Given the description of an element on the screen output the (x, y) to click on. 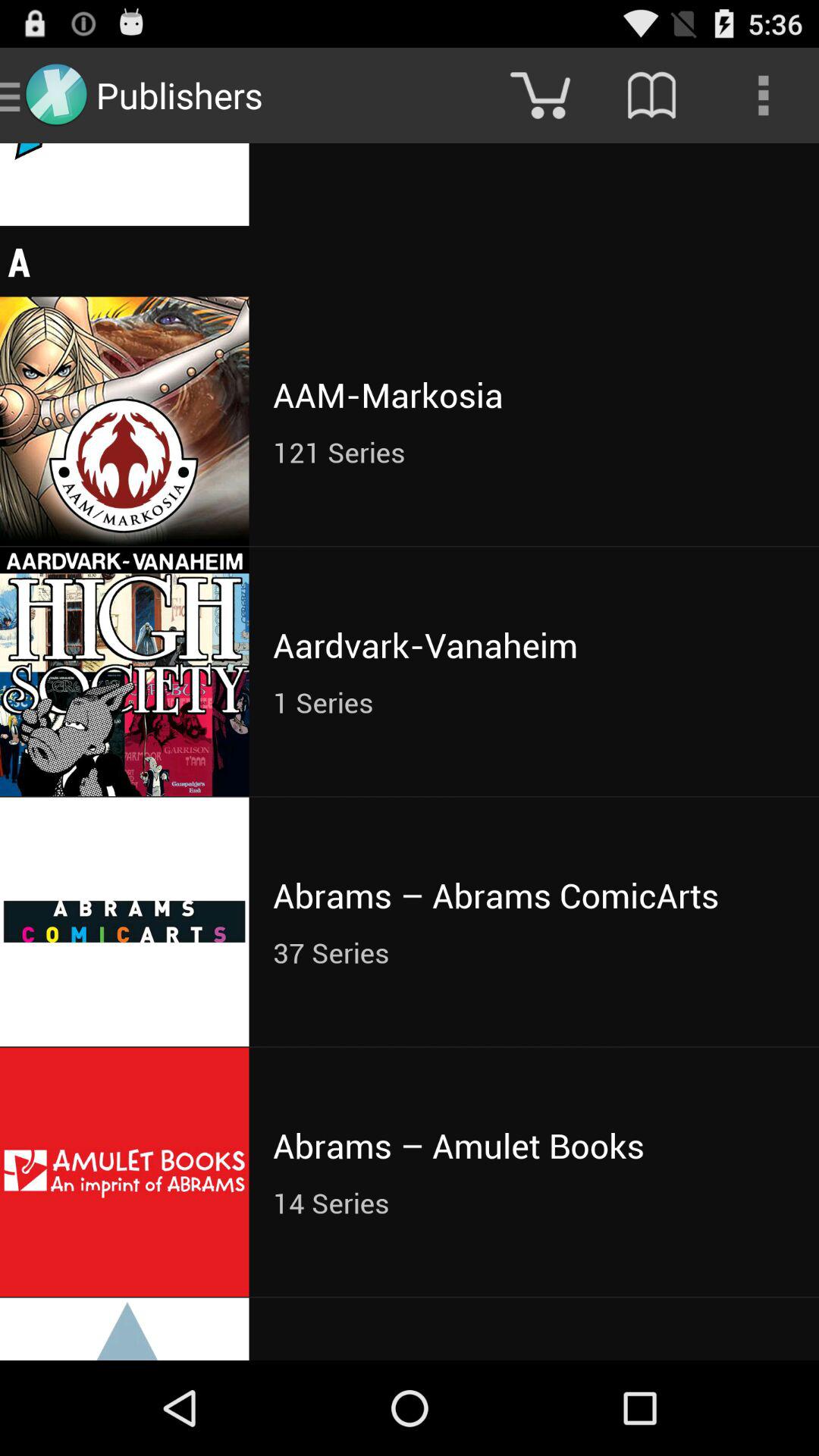
open the icon below the 121 series (534, 644)
